Given the description of an element on the screen output the (x, y) to click on. 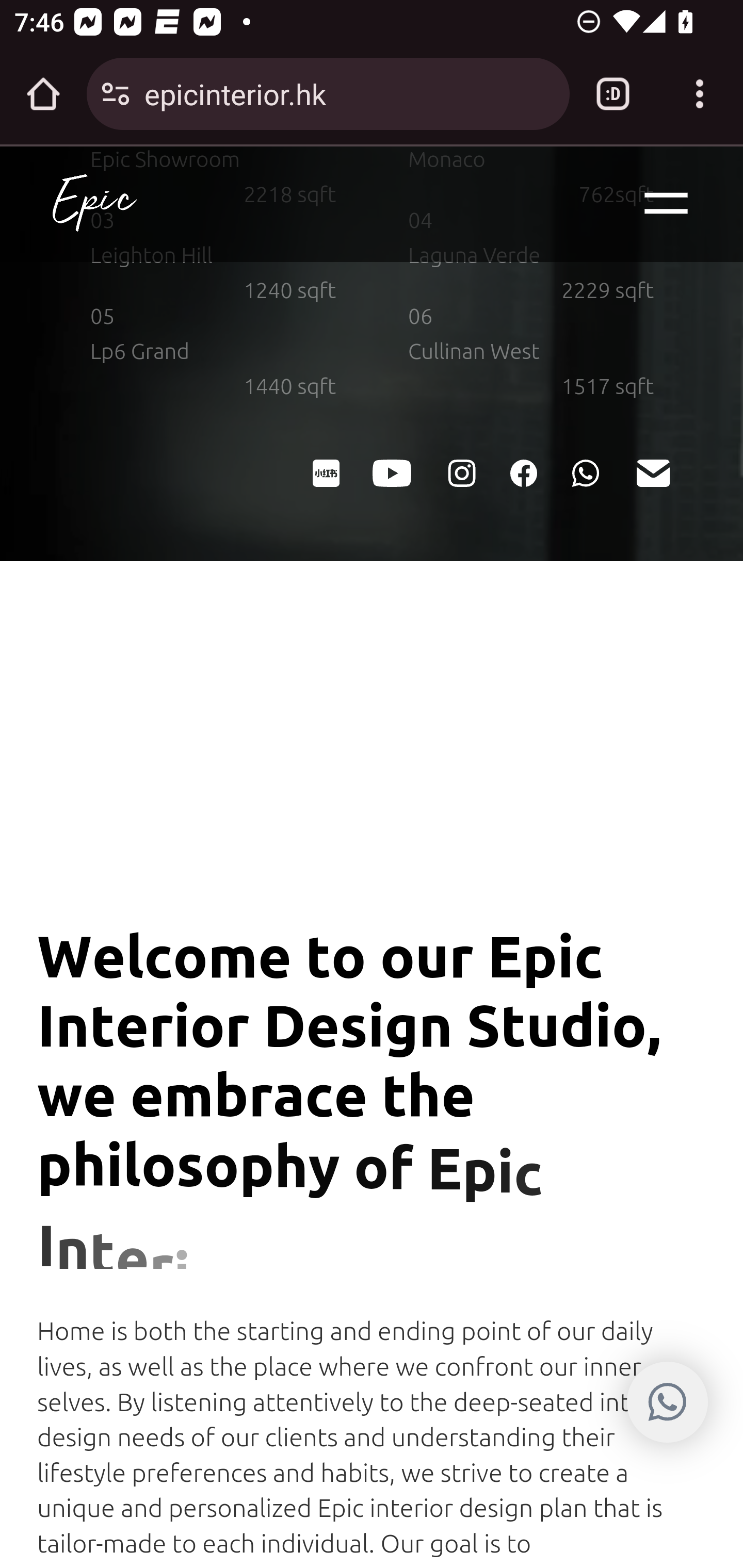
Open the home page (43, 93)
Connection is secure (115, 93)
Switch or close tabs (612, 93)
Customize and control Google Chrome (699, 93)
epicinterior.hk (349, 92)
en (94, 204)
menu (666, 204)
05 Lp6 Grand 1440 sqft 05 Lp6 Grand 1440 sqft (213, 351)
5abbc35ee8ac2b3e07aaf880 (325, 471)
@_epicinterior593 (392, 471)
epicinteriordesignltd (460, 471)
profile (523, 471)
85297019887 (585, 471)
mailto:info@epicinterior (652, 471)
85297019887 (666, 1402)
